Given the description of an element on the screen output the (x, y) to click on. 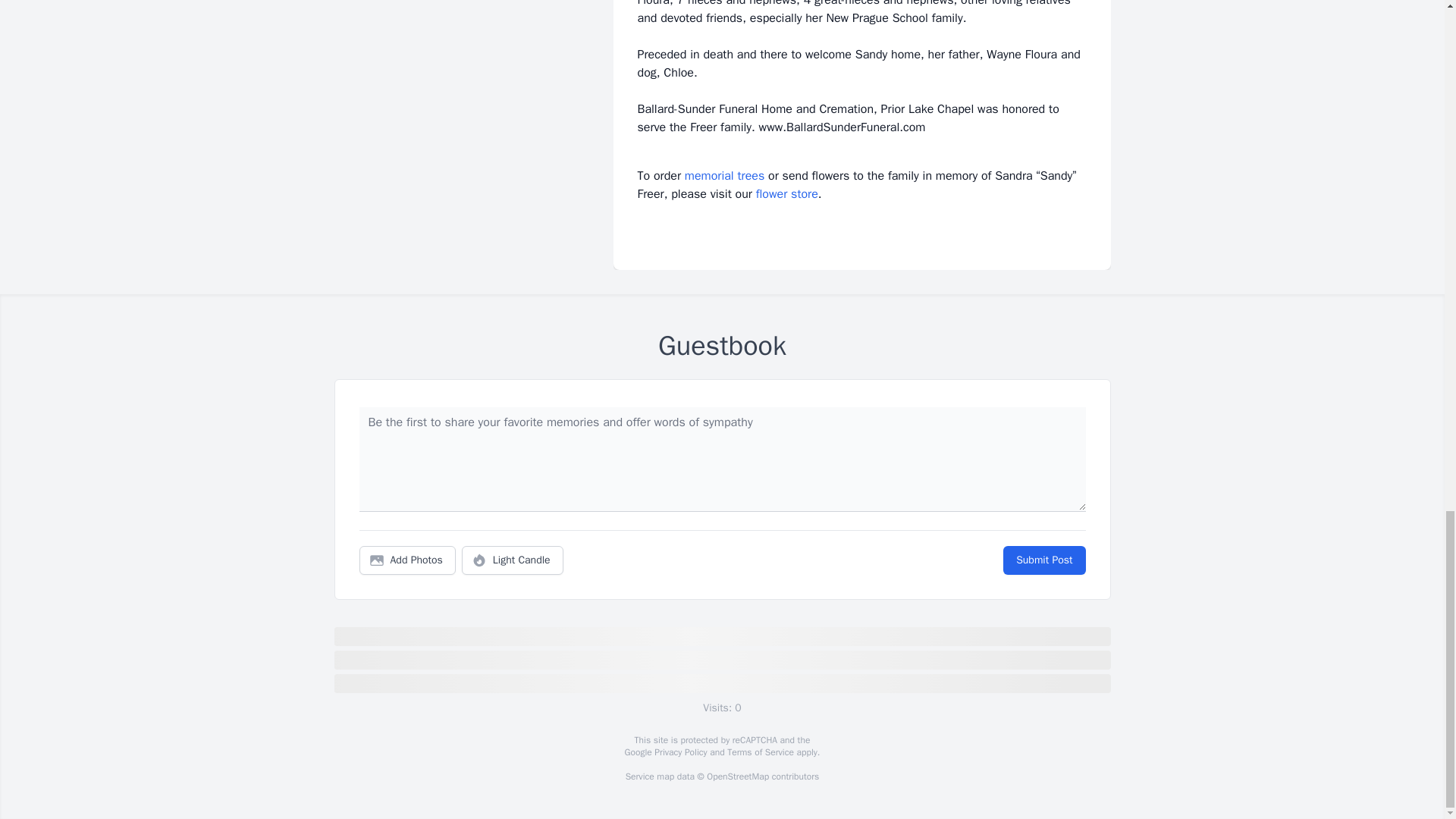
Add Photos (407, 560)
Submit Post (1043, 560)
flower store (786, 193)
Terms of Service (759, 752)
OpenStreetMap (737, 776)
Light Candle (512, 560)
Privacy Policy (679, 752)
memorial trees (724, 175)
